Given the description of an element on the screen output the (x, y) to click on. 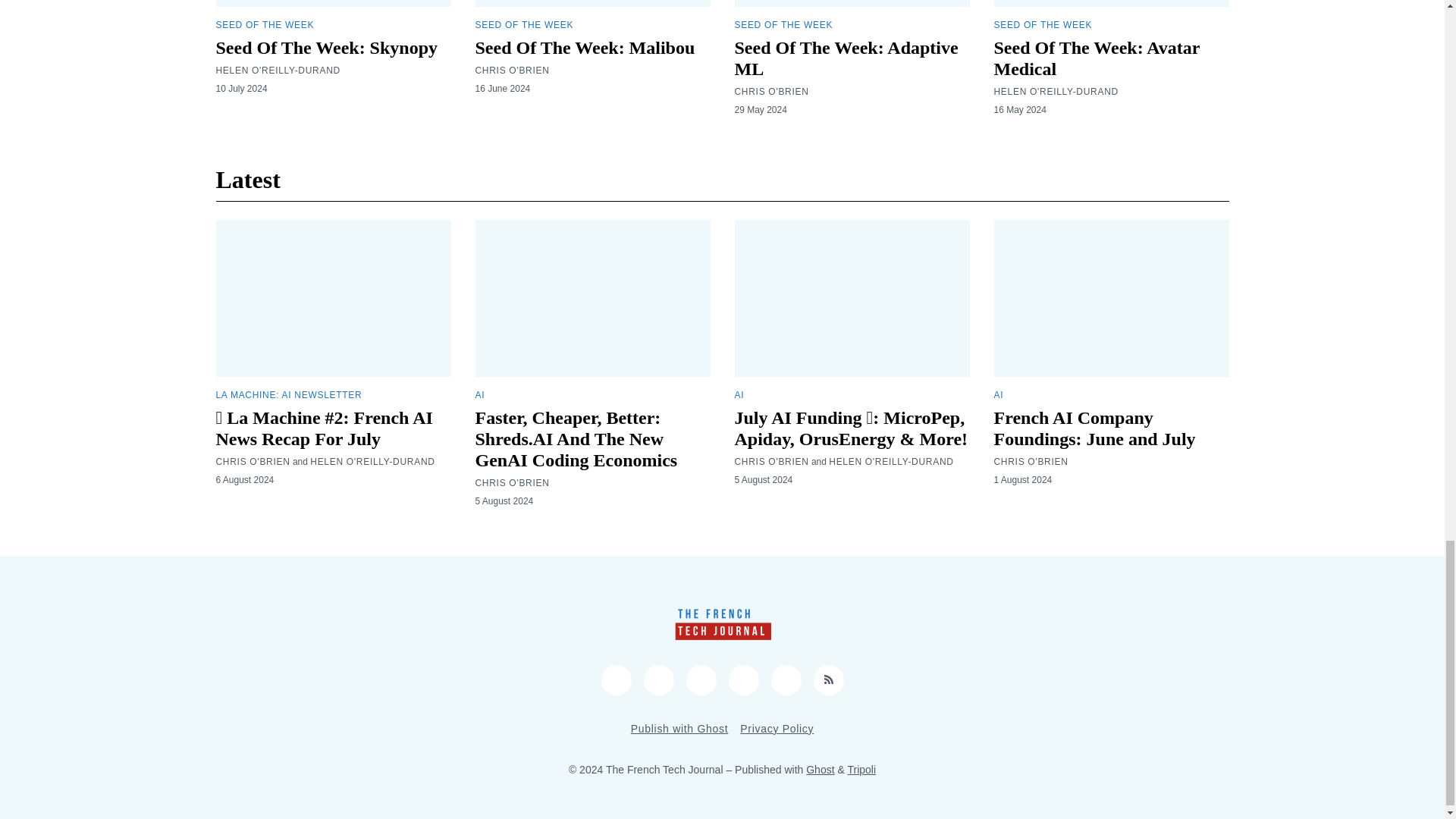
SEED OF THE WEEK (264, 24)
HELEN O'REILLY-DURAND (277, 70)
Seed Of The Week: Skynopy (326, 47)
